Given the description of an element on the screen output the (x, y) to click on. 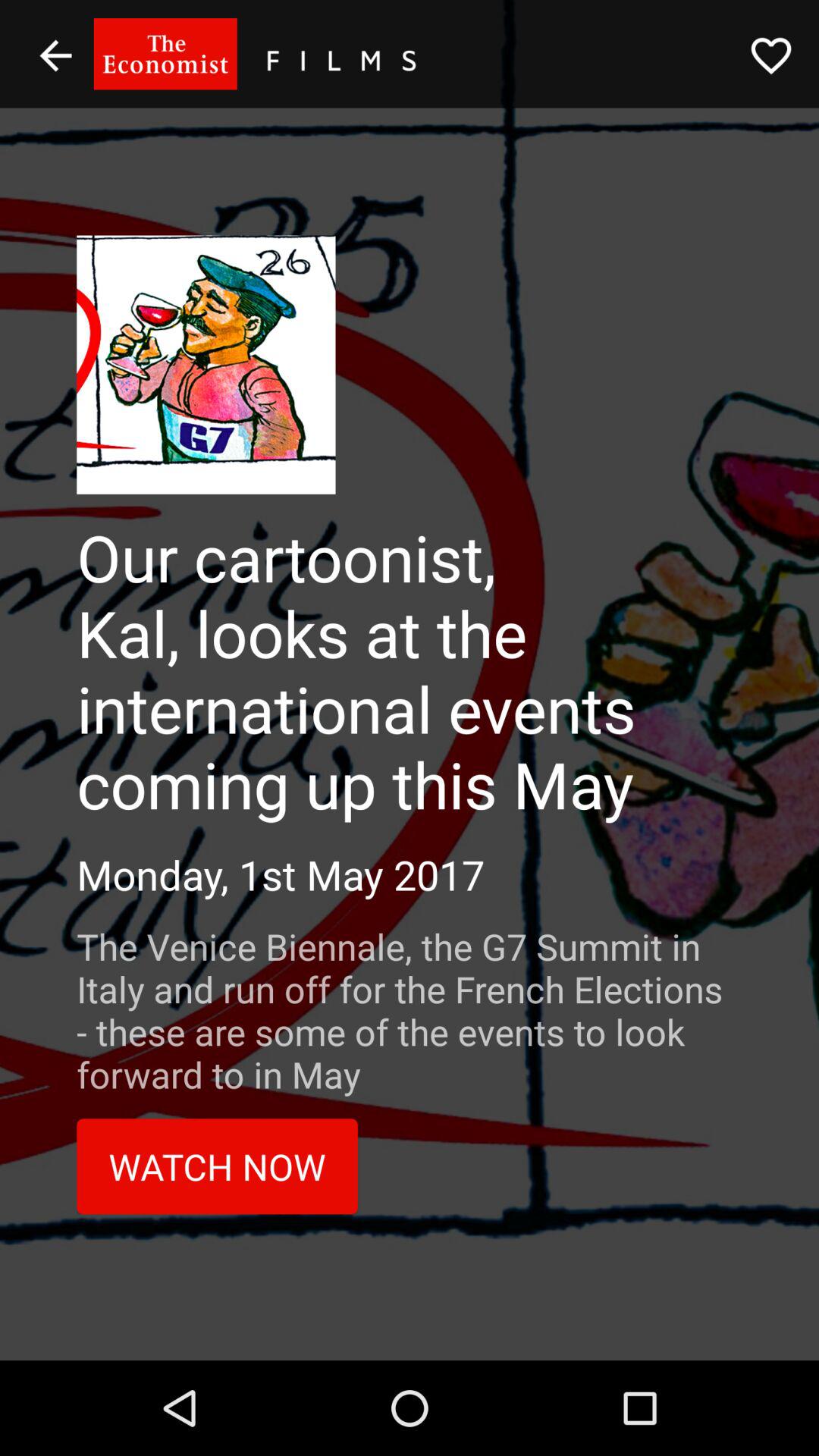
choose item at the bottom left corner (216, 1166)
